Given the description of an element on the screen output the (x, y) to click on. 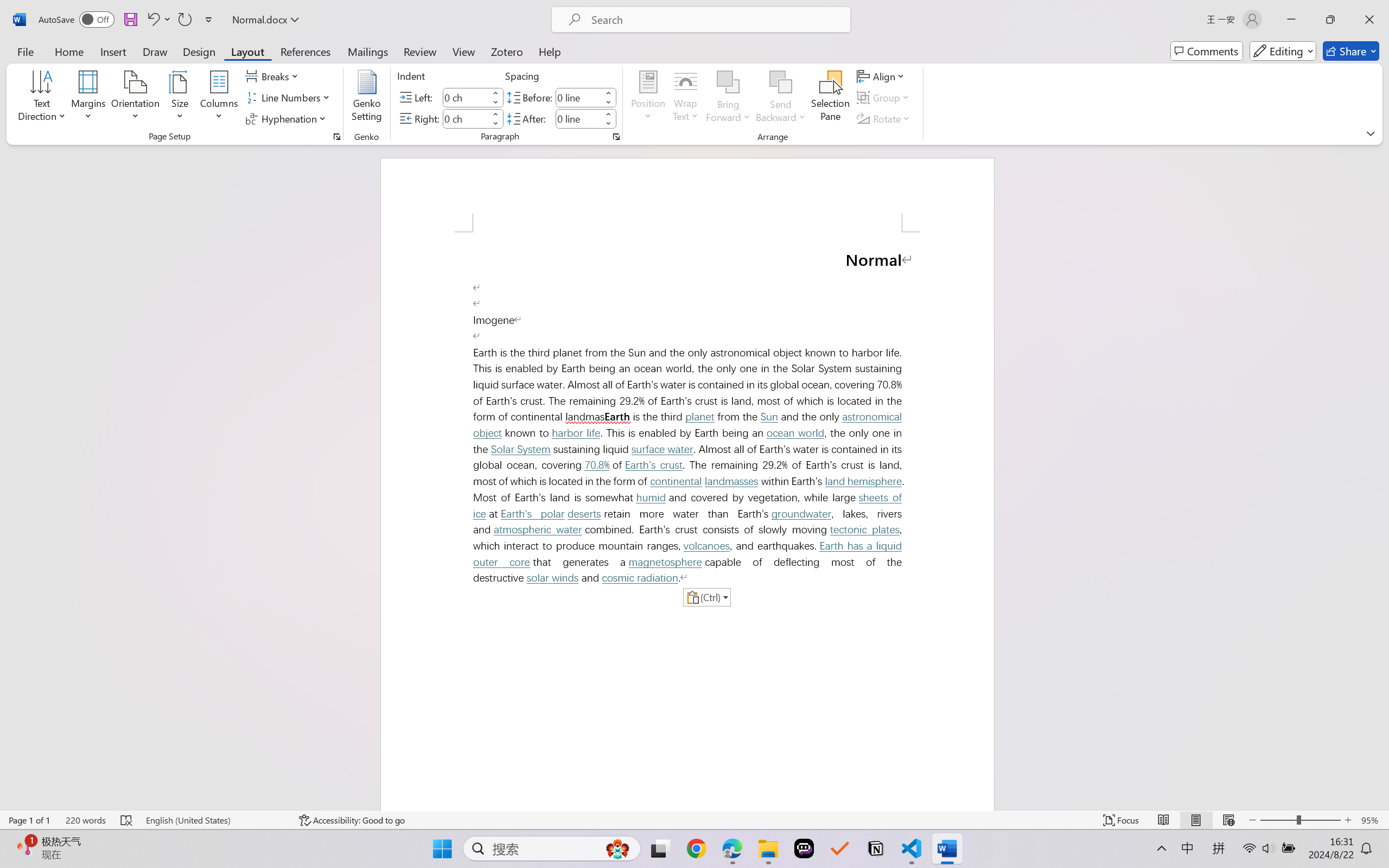
Size (180, 97)
deserts (584, 513)
magnetosphere (665, 561)
Zoom 95% (1372, 819)
Action: Paste alternatives (706, 597)
Page 1 content (687, 521)
Bring Forward (728, 81)
surface water (662, 448)
